Given the description of an element on the screen output the (x, y) to click on. 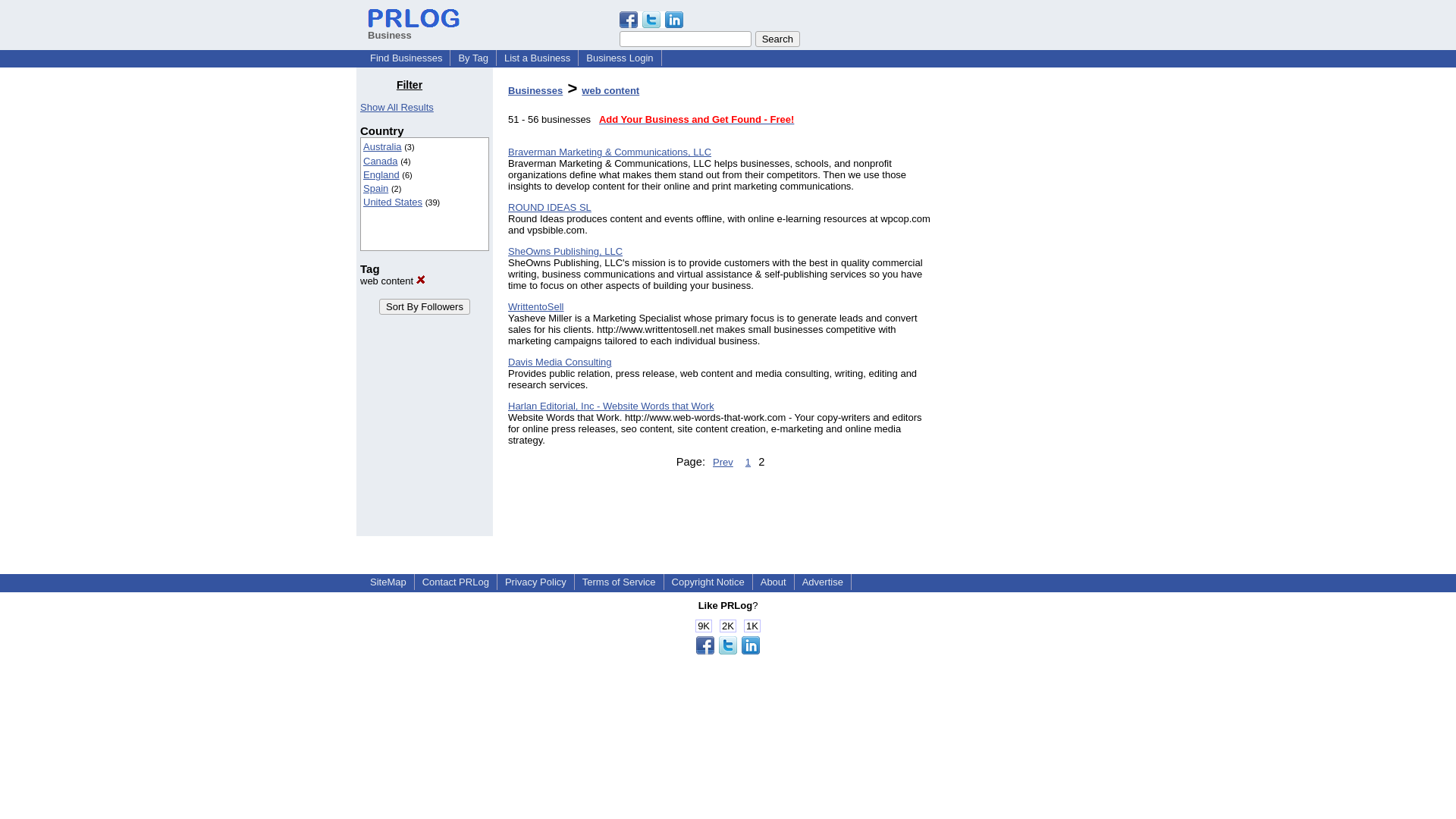
ROUND IDEAS SL (549, 206)
Find Businesses (406, 57)
United States (392, 202)
Copyright Notice (708, 581)
Privacy Policy (535, 581)
Advertise (822, 581)
Show All Results (396, 107)
Terms of Service (619, 581)
Business Login (619, 57)
web content (609, 90)
List a Business (536, 57)
Sort By Followers (424, 306)
Share this page! (651, 24)
SiteMap (388, 581)
About (773, 581)
